Given the description of an element on the screen output the (x, y) to click on. 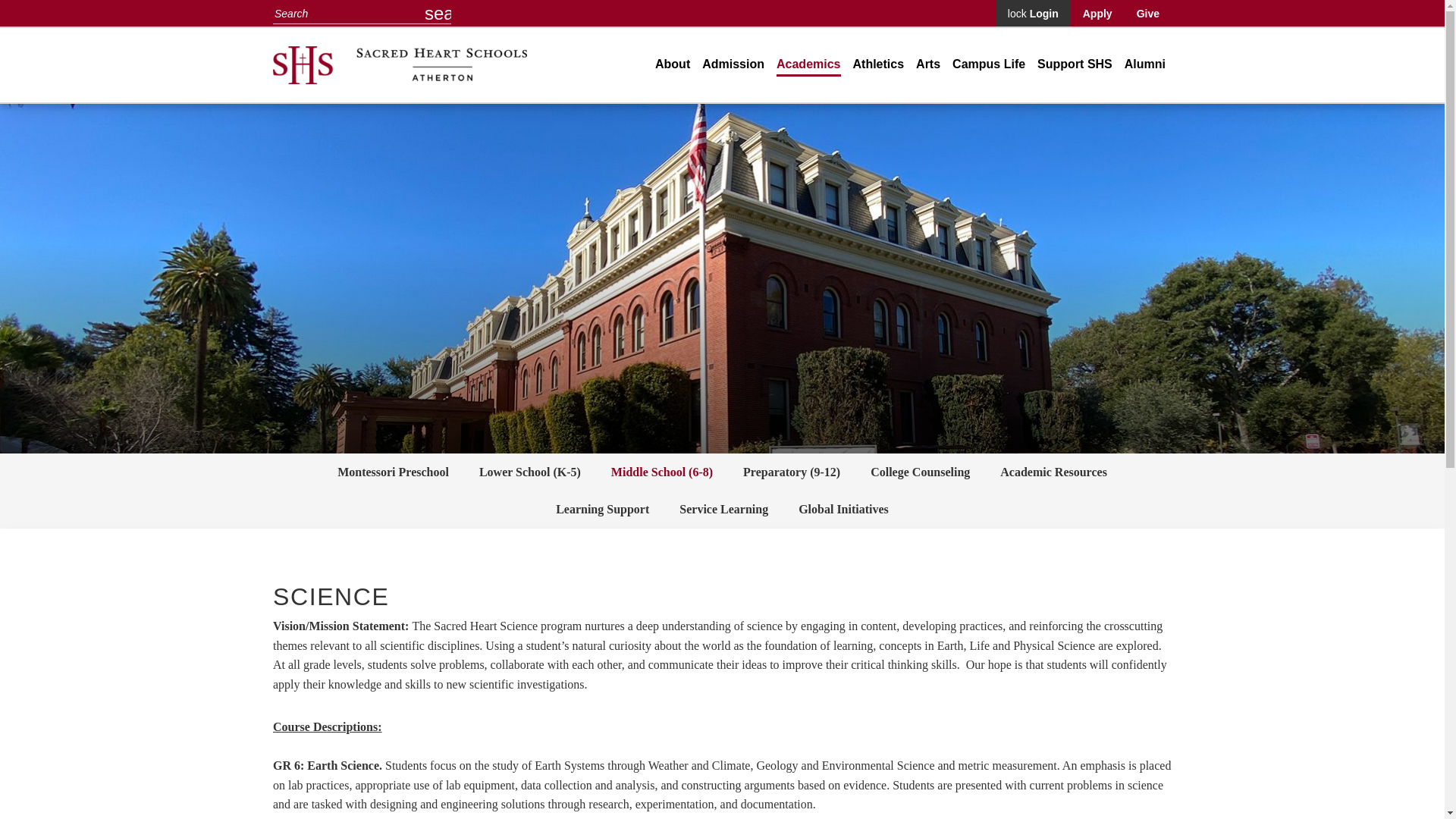
search (438, 13)
